Given the description of an element on the screen output the (x, y) to click on. 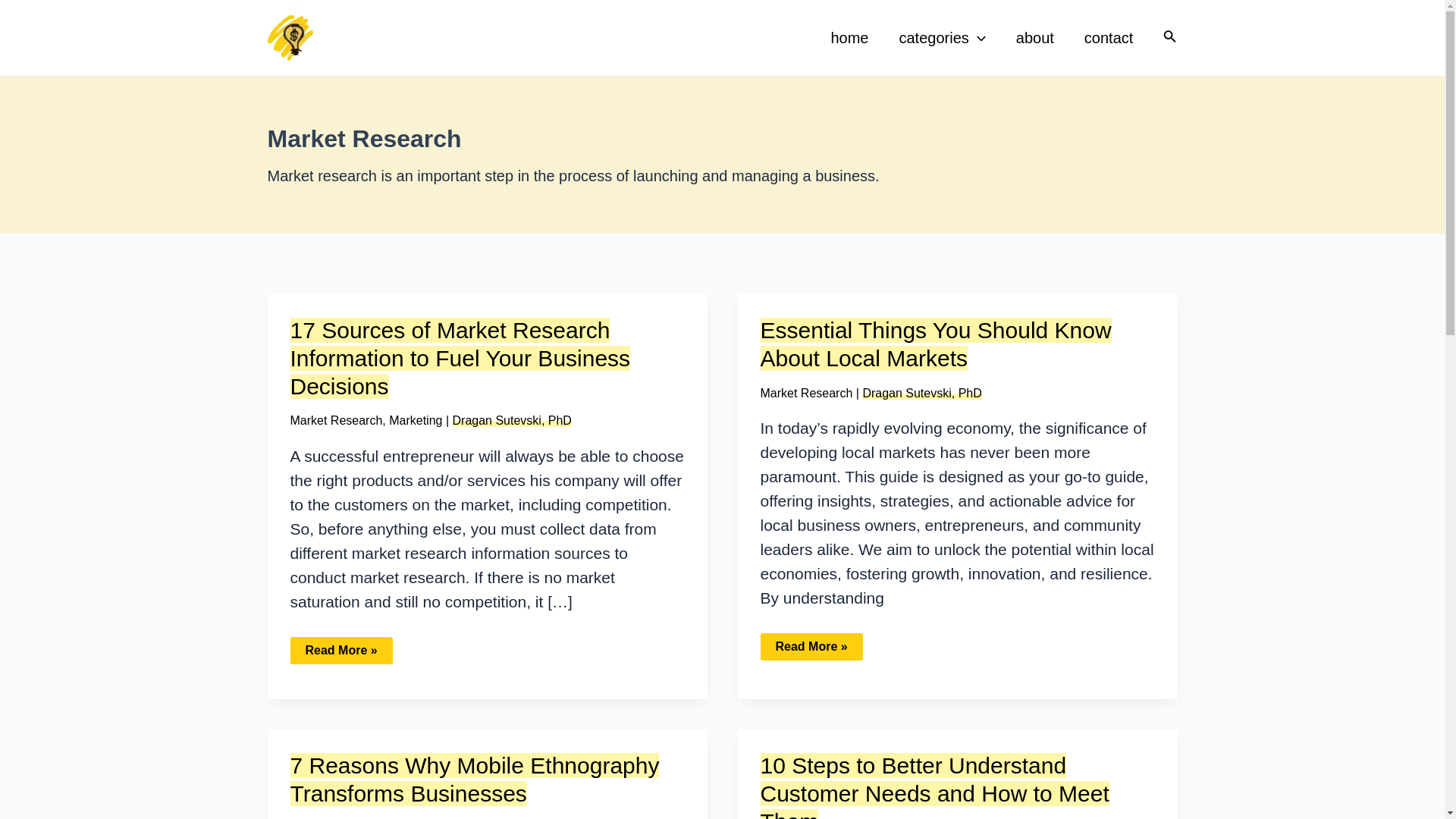
Marketing (415, 420)
categories (941, 37)
home (849, 37)
Market Research (335, 420)
7 Reasons Why Mobile Ethnography Transforms Businesses (474, 778)
contact (1108, 37)
View all posts by Dragan Sutevski, PhD (512, 420)
about (1034, 37)
Dragan Sutevski, PhD (921, 392)
View all posts by Dragan Sutevski, PhD (921, 392)
Dragan Sutevski, PhD (512, 420)
Essential Things You Should Know About Local Markets (935, 344)
Market Research (805, 392)
